Given the description of an element on the screen output the (x, y) to click on. 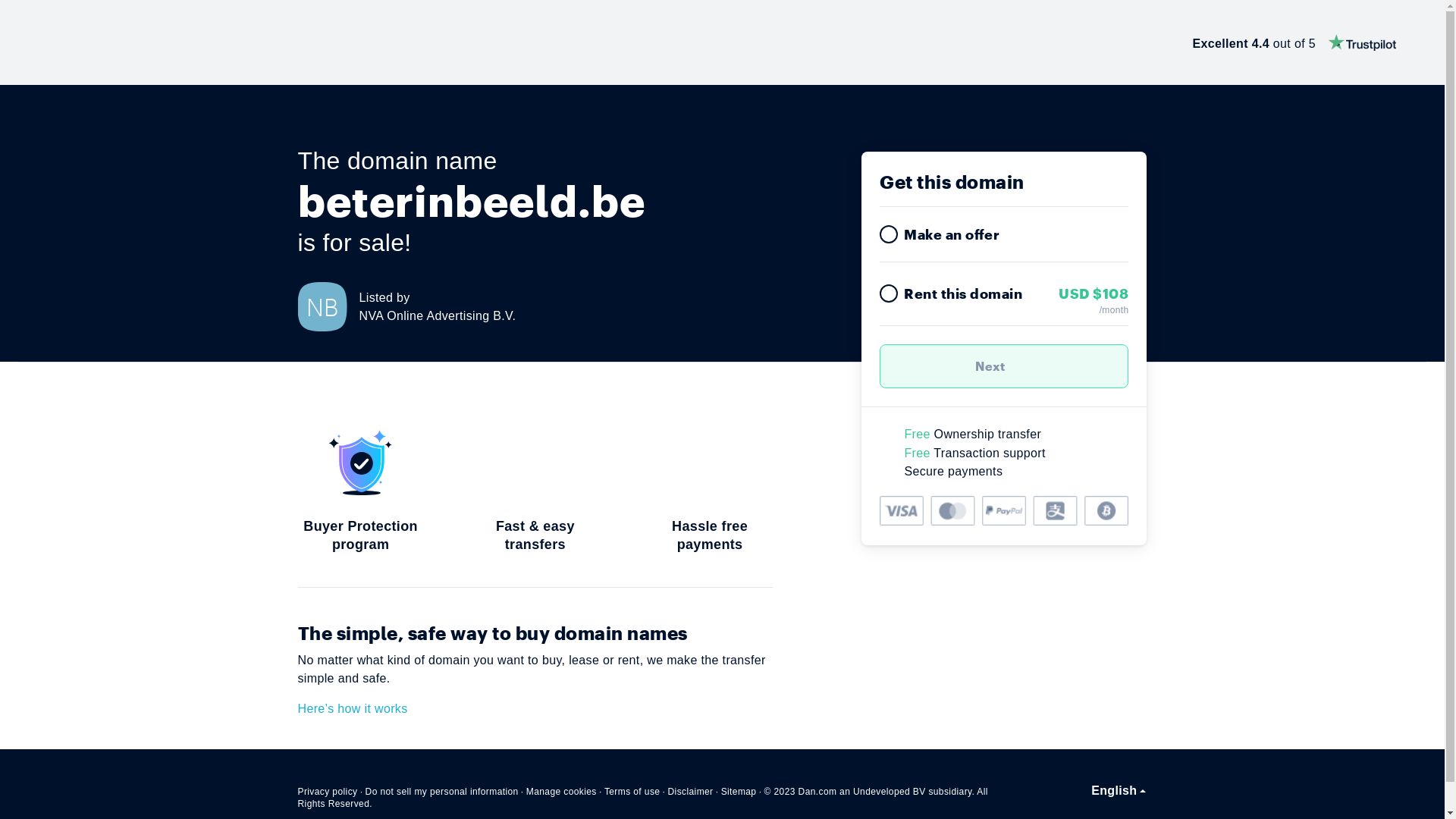
Next
) Element type: text (1003, 366)
Manage cookies Element type: text (561, 791)
Terms of use Element type: text (632, 791)
Excellent 4.4 out of 5 Element type: text (1294, 42)
Disclaimer Element type: text (689, 791)
English Element type: text (1118, 790)
Do not sell my personal information Element type: text (441, 791)
Sitemap Element type: text (738, 791)
Privacy policy Element type: text (327, 791)
